Given the description of an element on the screen output the (x, y) to click on. 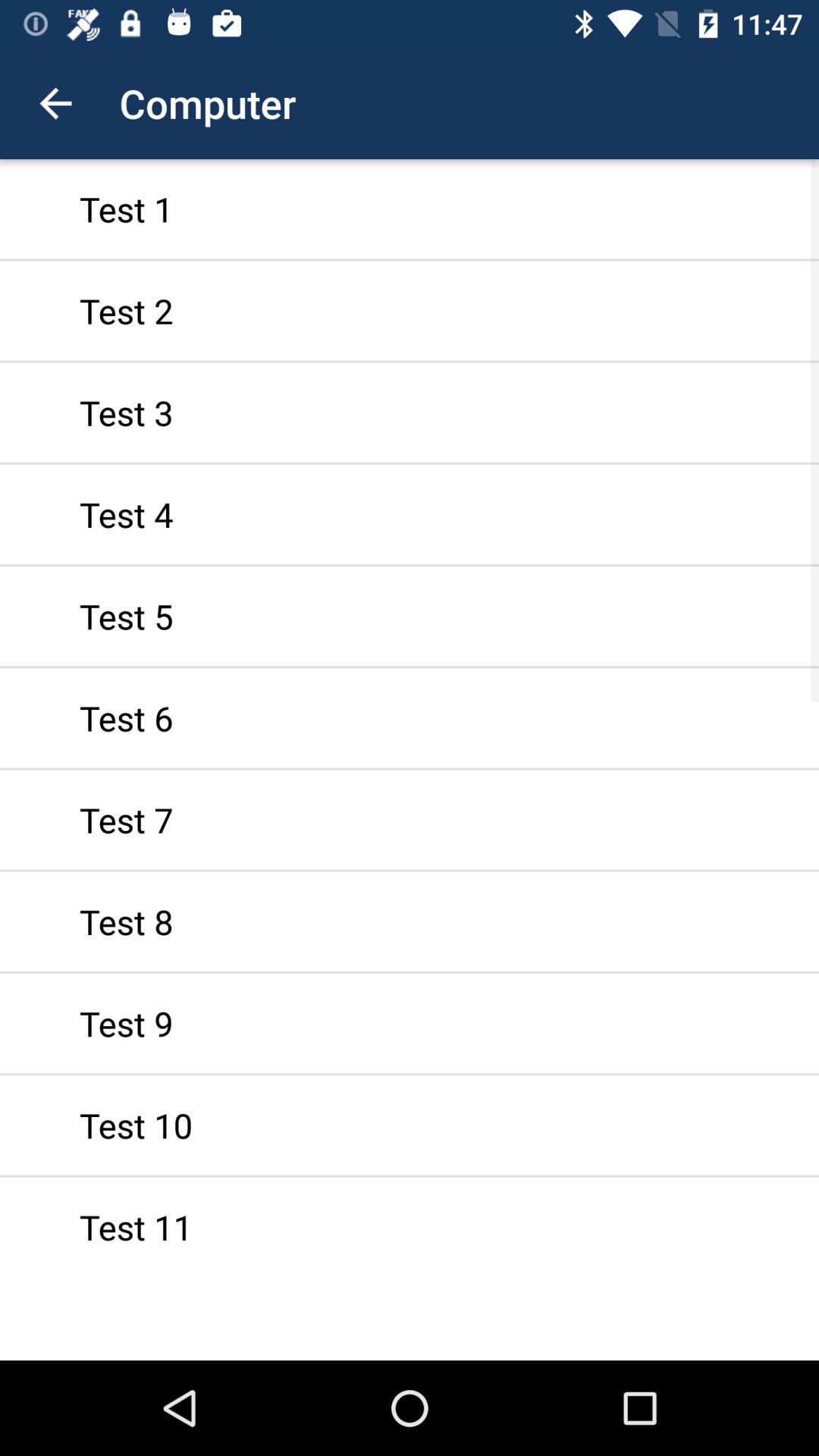
scroll until test 7 icon (409, 819)
